Given the description of an element on the screen output the (x, y) to click on. 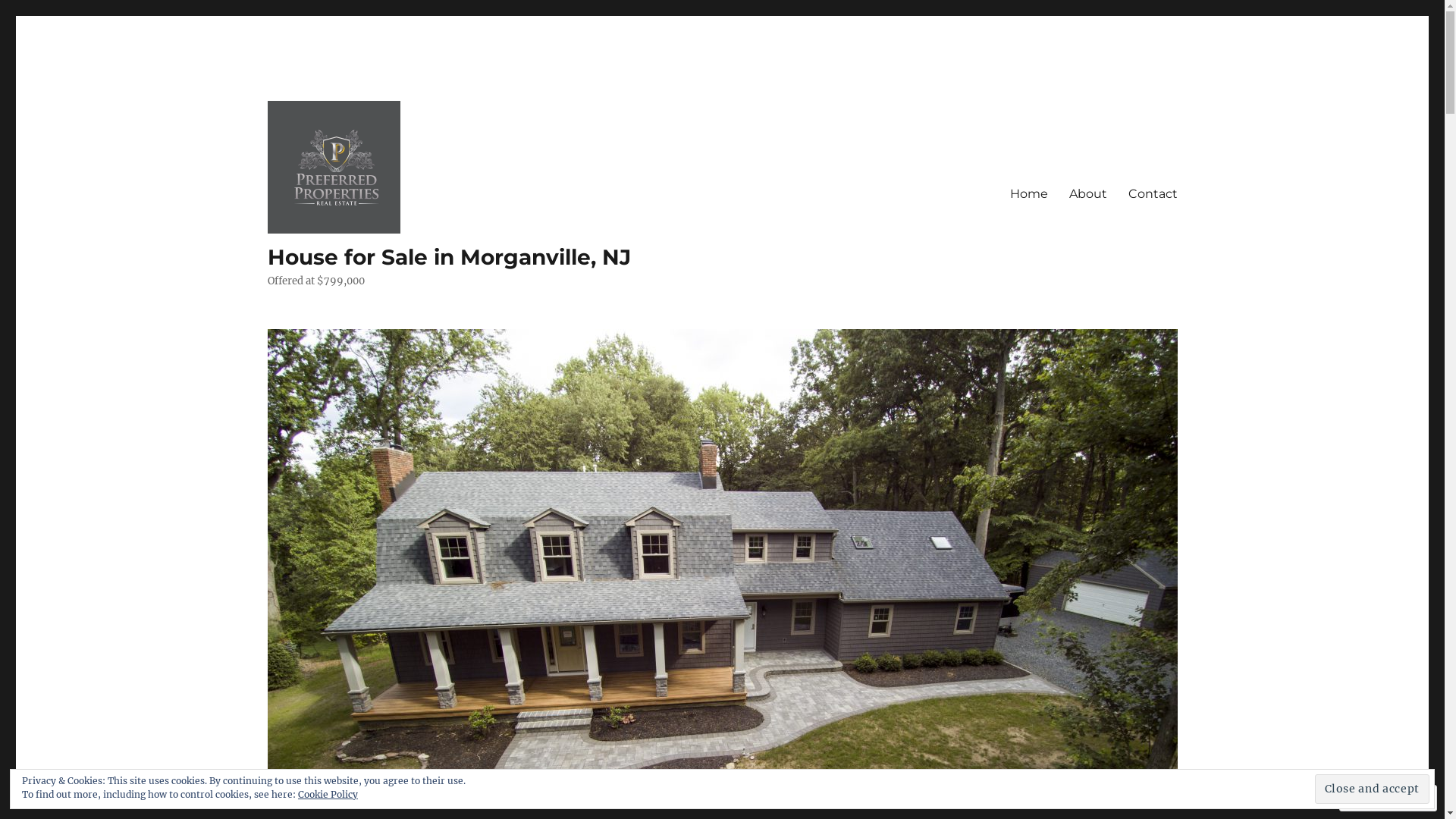
Close and accept Element type: text (1372, 788)
Contact Element type: text (1152, 193)
Home Element type: text (1028, 193)
Follow Element type: text (1373, 797)
Cookie Policy Element type: text (327, 794)
House for Sale in Morganville, NJ Element type: text (448, 256)
About Element type: text (1087, 193)
